Given the description of an element on the screen output the (x, y) to click on. 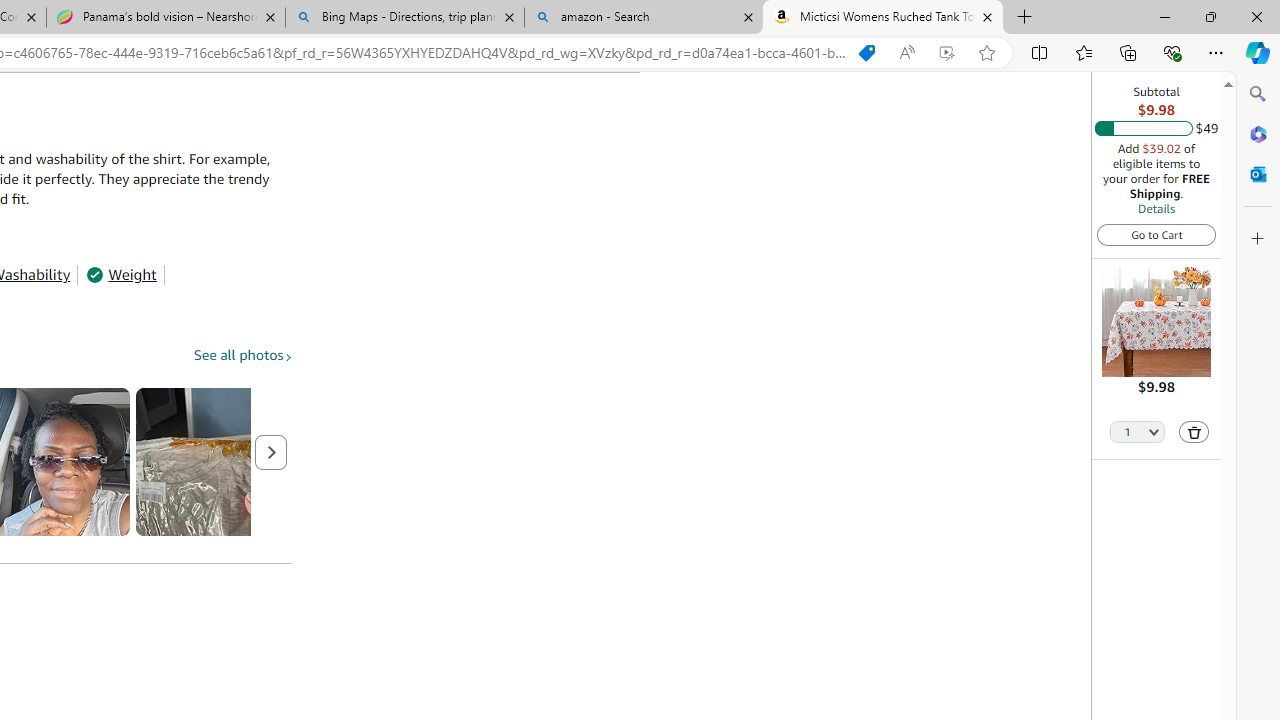
See all photos (243, 355)
